Given the description of an element on the screen output the (x, y) to click on. 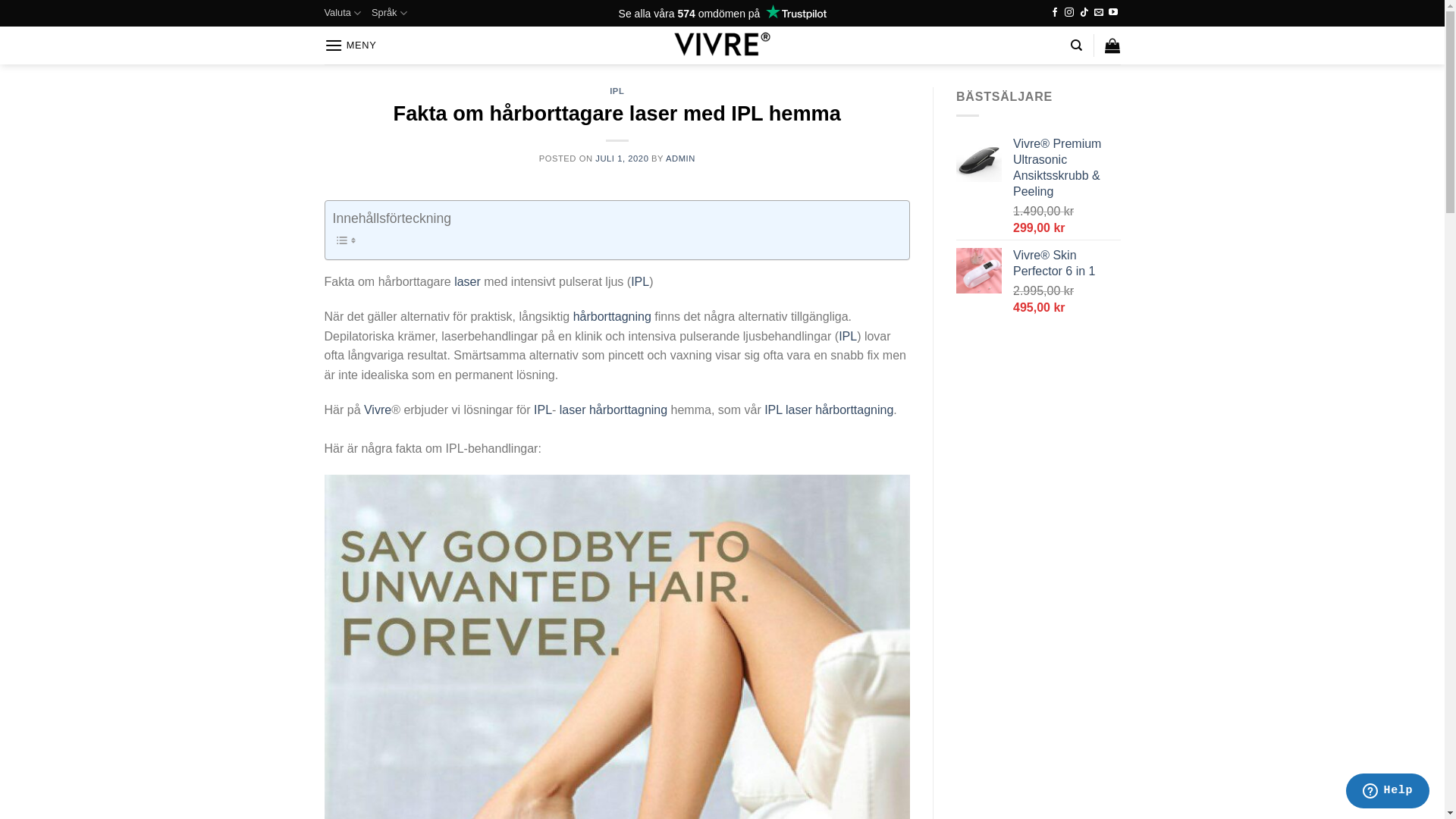
laser Element type: text (467, 281)
Opens a widget where you can chat to one of our agents Element type: hover (1387, 792)
IPL Element type: text (542, 409)
IPL Element type: text (616, 90)
Customer reviews powered by Trustpilot Element type: hover (721, 13)
ADMIN Element type: text (680, 158)
MENY Element type: text (350, 44)
Skicka ett mail till oss Element type: hover (1098, 12)
Varukorg Element type: hover (1112, 45)
Vivre Element type: text (377, 409)
IPL Element type: text (847, 335)
Valuta Element type: text (342, 12)
IPL Element type: text (639, 281)
JULI 1, 2020 Element type: text (621, 158)
